Given the description of an element on the screen output the (x, y) to click on. 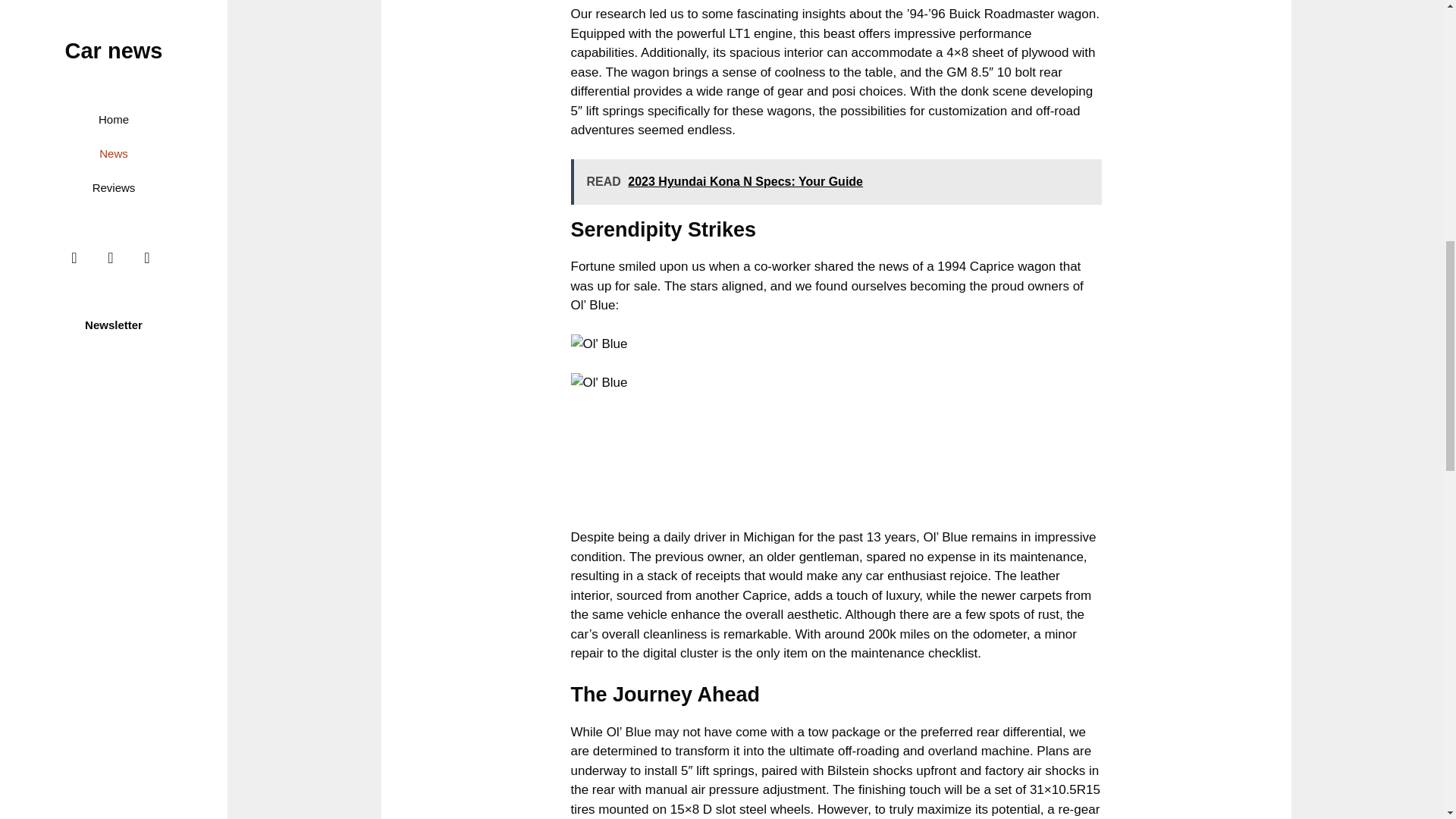
READ  2023 Hyundai Kona N Specs: Your Guide (835, 181)
Old Blue - The Ultimate B Body Caprice Wagon (598, 383)
Old Blue - The Ultimate B Body Caprice Wagon (598, 343)
